Given the description of an element on the screen output the (x, y) to click on. 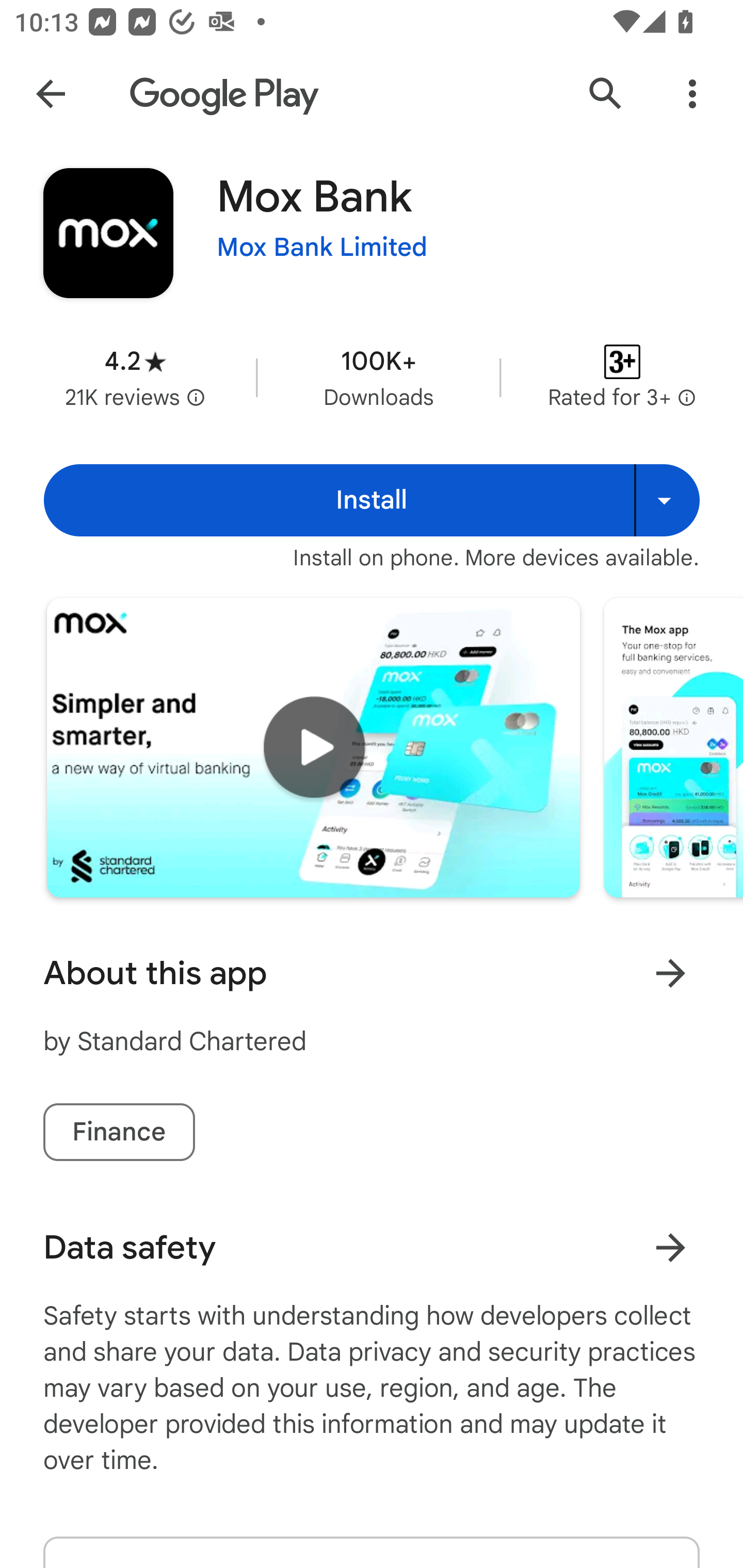
Navigate up (50, 93)
Search Google Play (605, 93)
More Options (692, 93)
Mox Bank Limited (321, 247)
Average rating 4.2 stars in 21 thousand reviews (135, 377)
Content rating Rated for 3+ (622, 377)
Install Install Install on more devices (371, 500)
Install on more devices (667, 500)
Play trailer for "Mox Bank" (313, 746)
Screenshot "1" of "7" (673, 746)
About this app Learn more About this app (371, 972)
Learn more About this app (670, 972)
Finance tag (118, 1132)
Data safety Learn more about data safety (371, 1247)
Learn more about data safety (670, 1247)
